Given the description of an element on the screen output the (x, y) to click on. 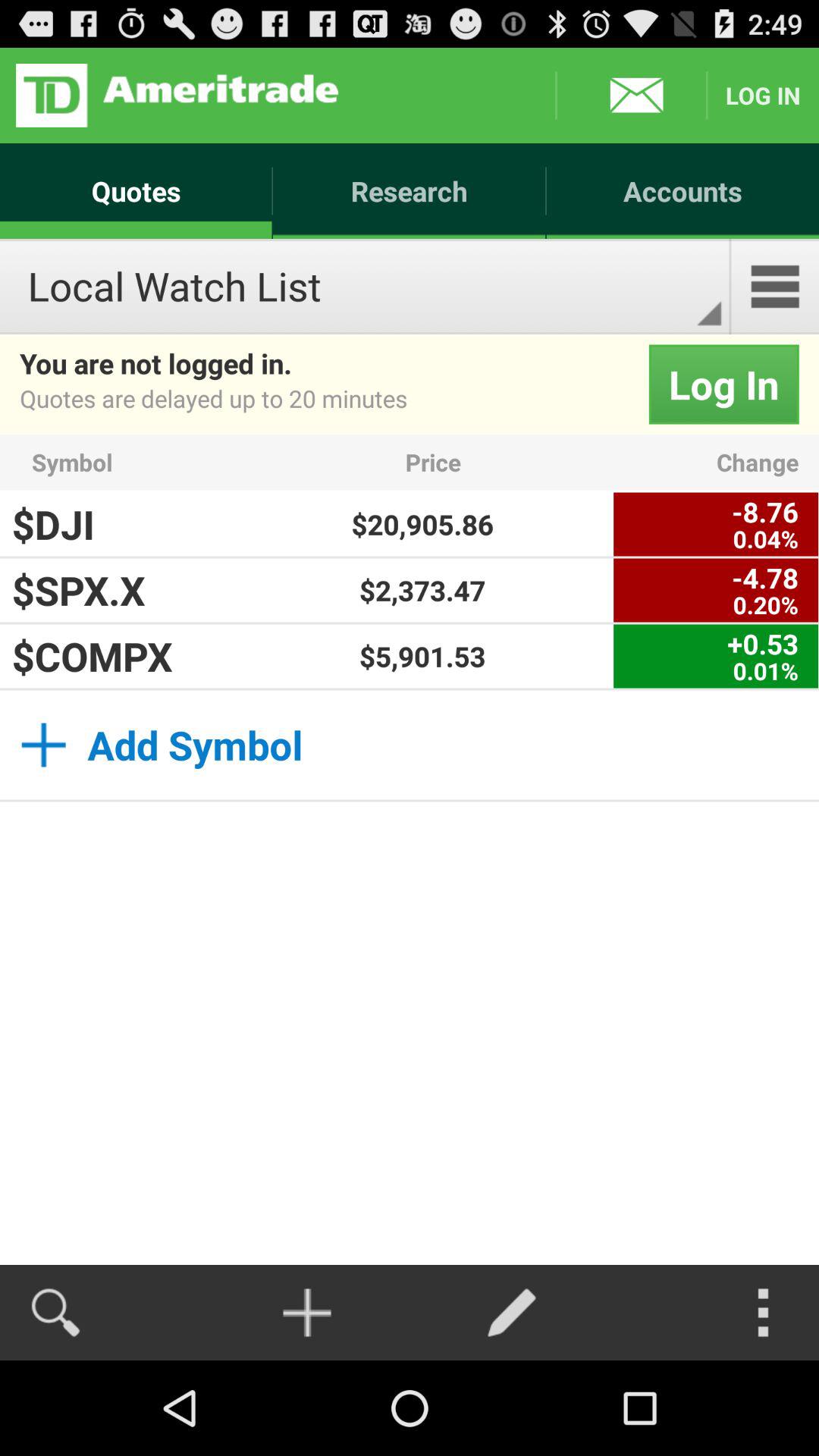
open aertitrade web site (176, 95)
